Given the description of an element on the screen output the (x, y) to click on. 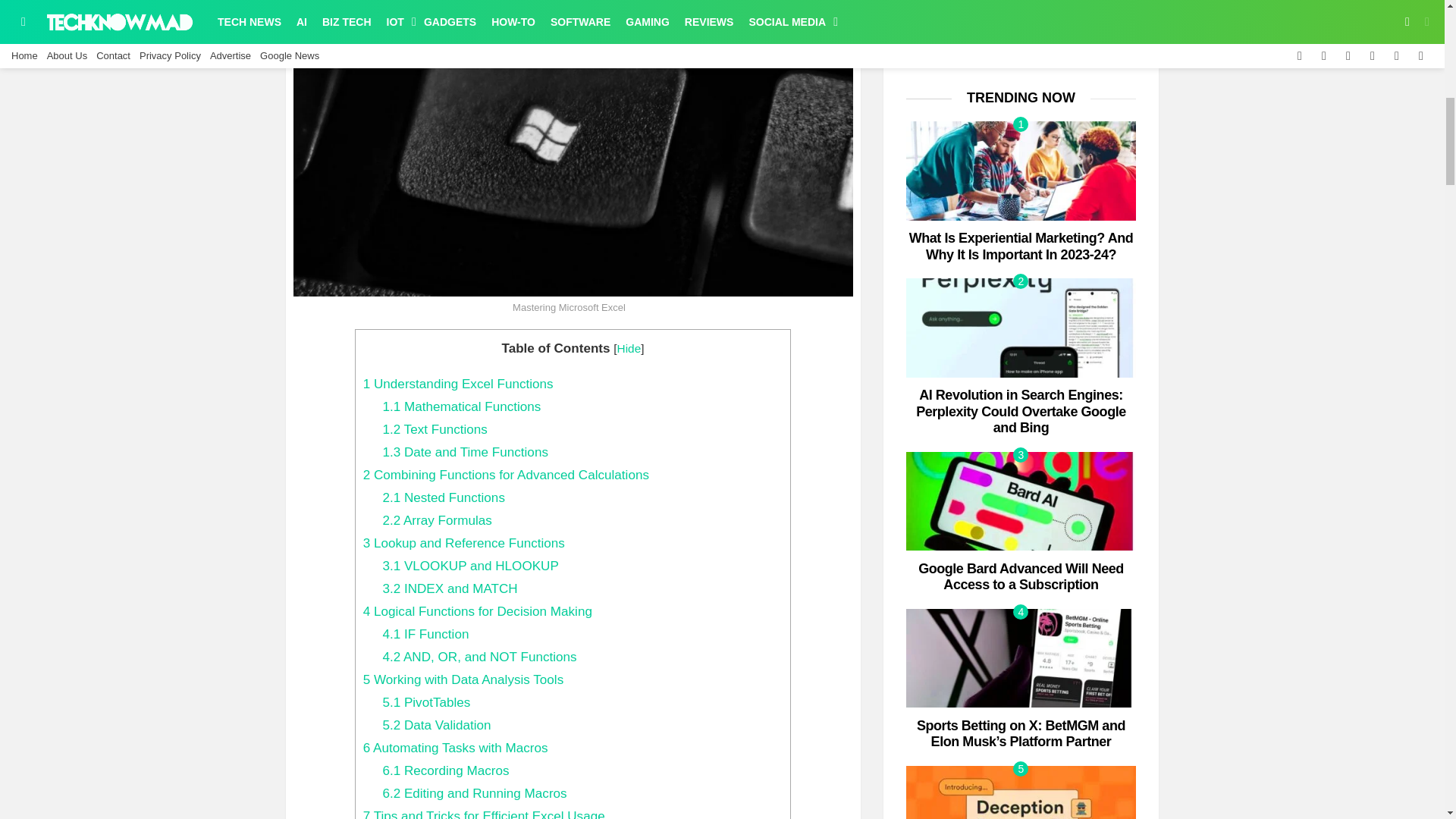
Hide (629, 348)
1 Understanding Excel Functions (457, 383)
